Given the description of an element on the screen output the (x, y) to click on. 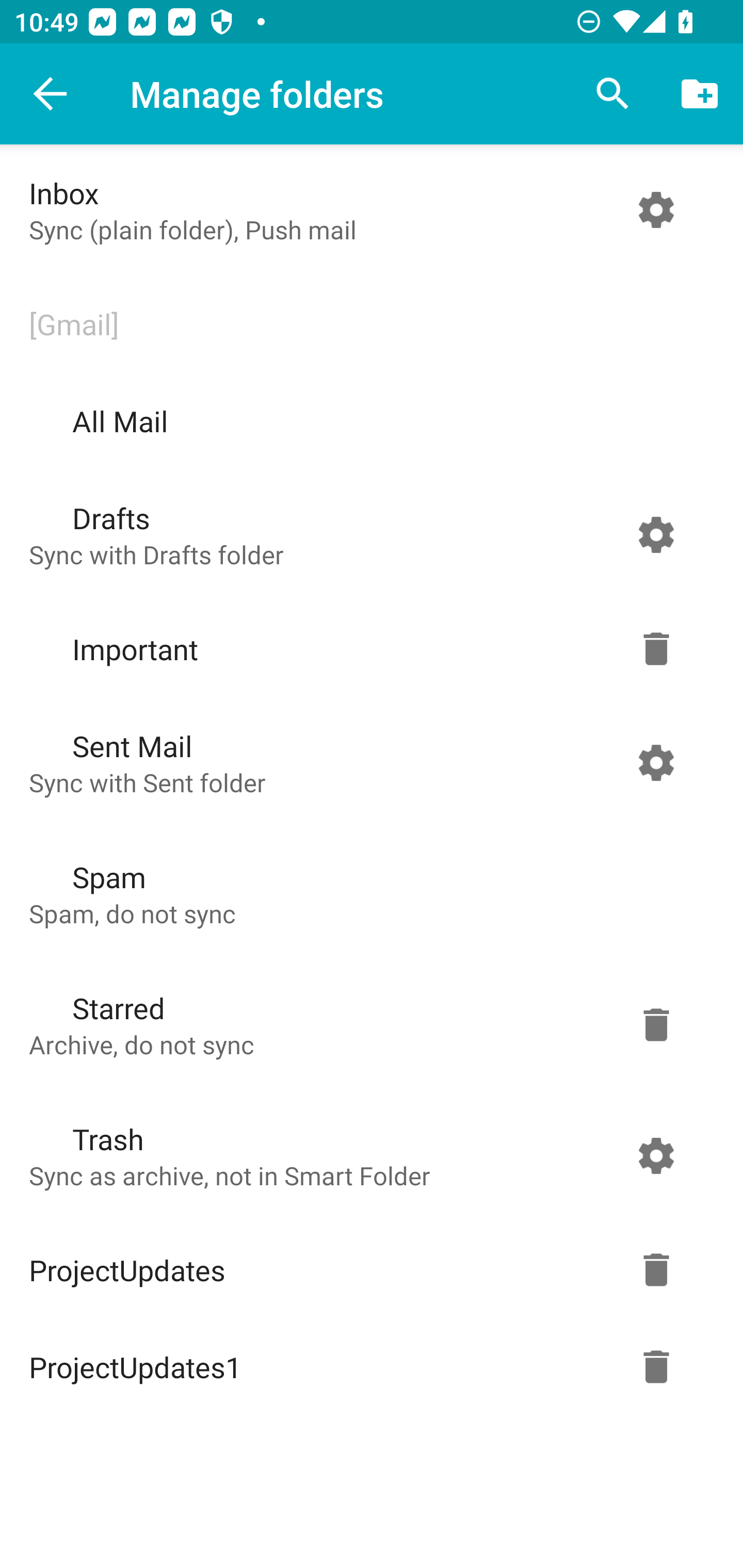
Navigate up (50, 93)
Search folders (612, 93)
Create folder (699, 93)
Folder settings (655, 209)
All Mail (367, 420)
Drafts Sync with Drafts folder Folder settings (367, 534)
Folder settings (655, 534)
Important Folder settings (367, 648)
Folder settings (655, 648)
Sent Mail Sync with Sent folder Folder settings (367, 762)
Folder settings (655, 762)
Spam Spam, do not sync (367, 893)
Starred Archive, do not sync Folder settings (367, 1024)
Folder settings (655, 1024)
Folder settings (655, 1155)
ProjectUpdates Folder settings (367, 1269)
Folder settings (655, 1269)
ProjectUpdates1 Folder settings (367, 1366)
Folder settings (655, 1366)
